Given the description of an element on the screen output the (x, y) to click on. 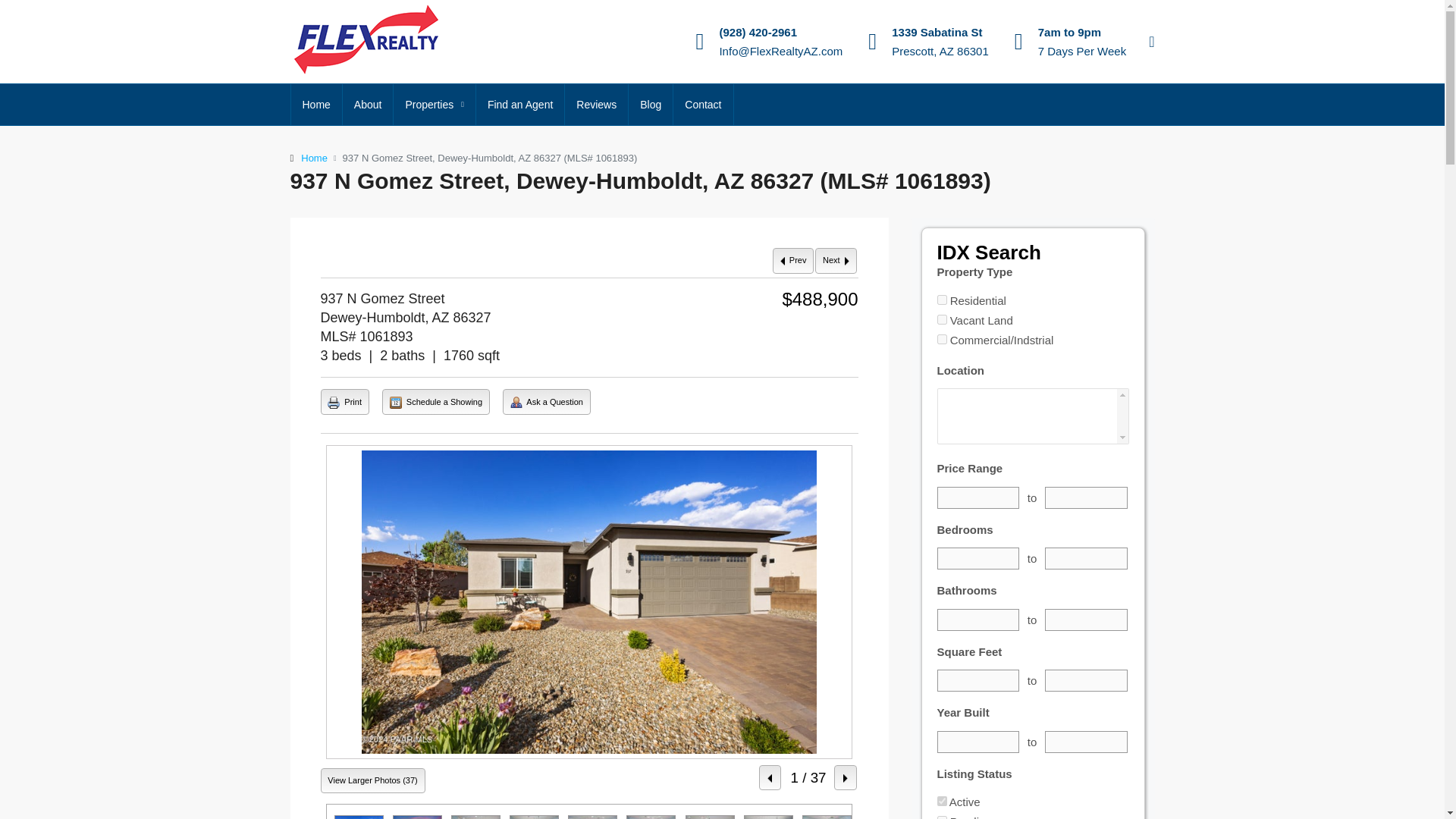
Next (835, 260)
About (367, 104)
Print (333, 402)
B (942, 318)
A (942, 298)
Blog (650, 104)
Reviews (595, 104)
Ask a Question (516, 402)
Pending (942, 817)
Active (942, 800)
C (942, 338)
Home (314, 157)
Properties (433, 104)
Prev (793, 260)
Print (344, 401)
